Given the description of an element on the screen output the (x, y) to click on. 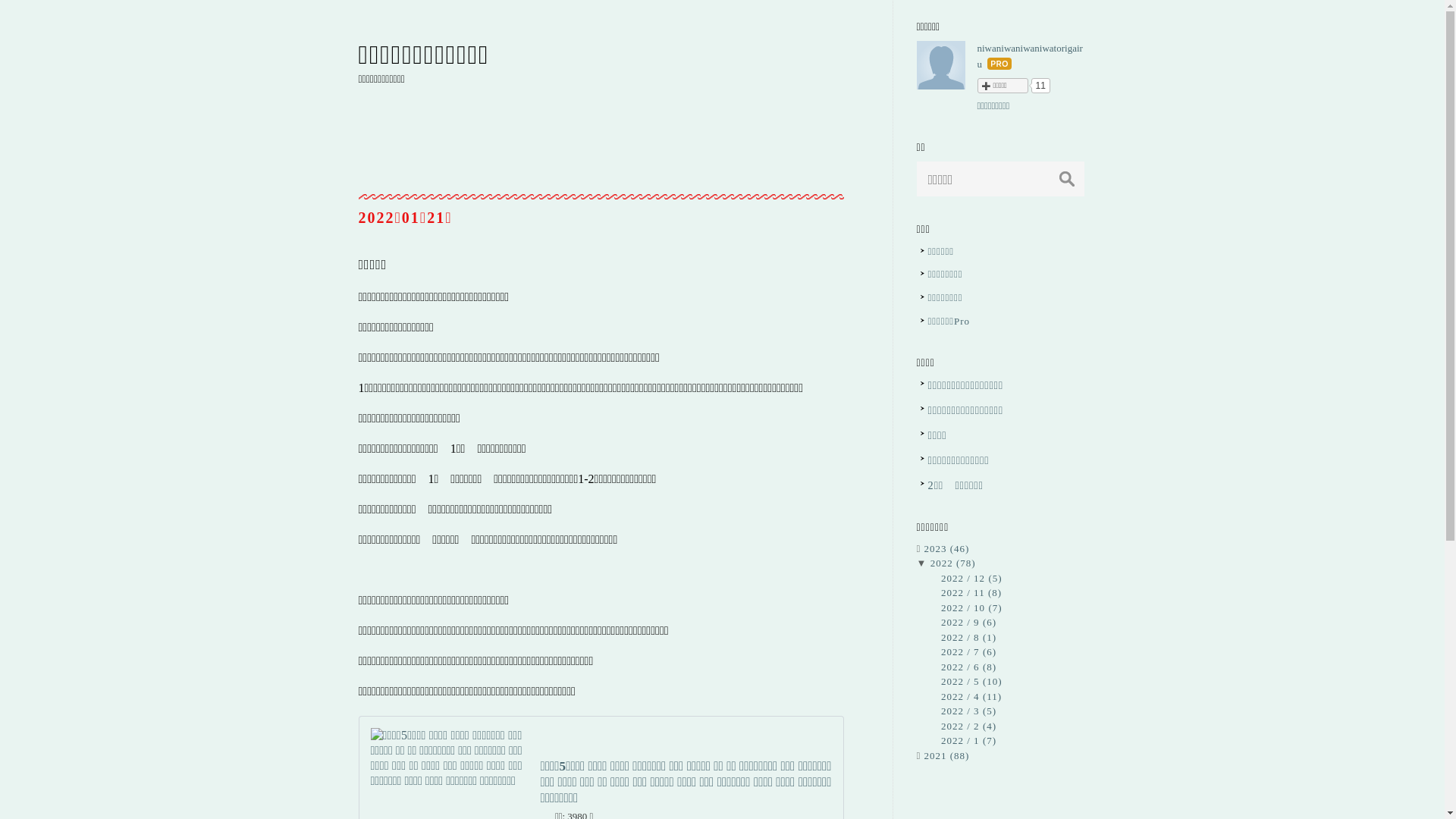
niwaniwaniwaniwatorigairu Element type: text (1029, 55)
2022 / 7 (6) Element type: text (968, 651)
2022 / 5 (10) Element type: text (971, 681)
2022 (78) Element type: text (952, 562)
2022 / 6 (8) Element type: text (968, 666)
2022 / 9 (6) Element type: text (968, 621)
2022 / 11 (8) Element type: text (971, 592)
2022 / 3 (5) Element type: text (968, 710)
2022 / 10 (7) Element type: text (971, 607)
2023 (46) Element type: text (946, 548)
2022 / 1 (7) Element type: text (968, 740)
2022 / 8 (1) Element type: text (968, 637)
2022 / 2 (4) Element type: text (968, 725)
2021 (88) Element type: text (946, 755)
2022 / 12 (5) Element type: text (971, 577)
20220121 Element type: text (404, 217)
2022 / 4 (11) Element type: text (971, 696)
